Given the description of an element on the screen output the (x, y) to click on. 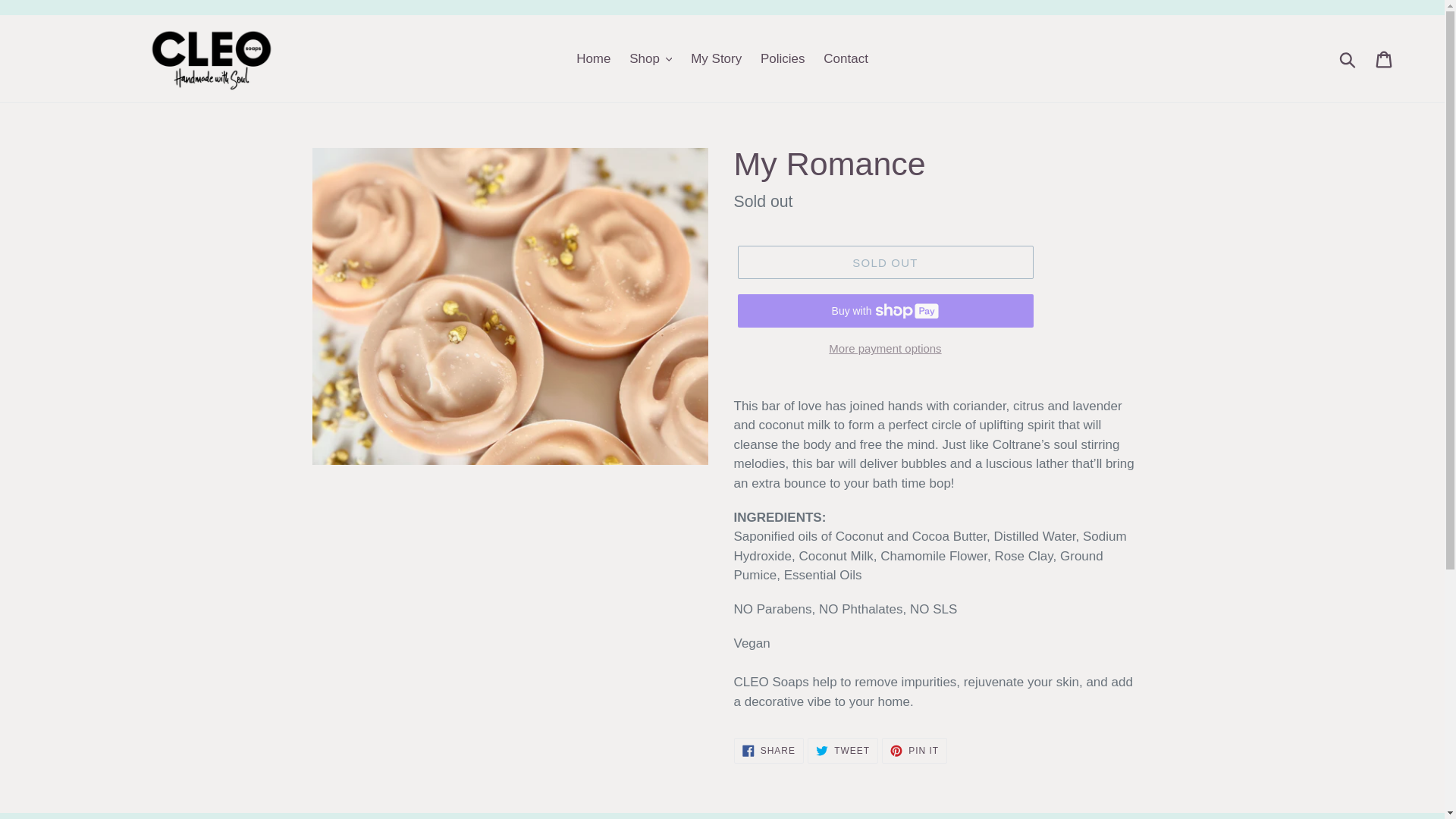
Policies (782, 58)
Cart (768, 750)
Home (842, 750)
More payment options (1385, 58)
Submit (593, 58)
My Story (884, 348)
SOLD OUT (1348, 59)
Contact (914, 750)
